Given the description of an element on the screen output the (x, y) to click on. 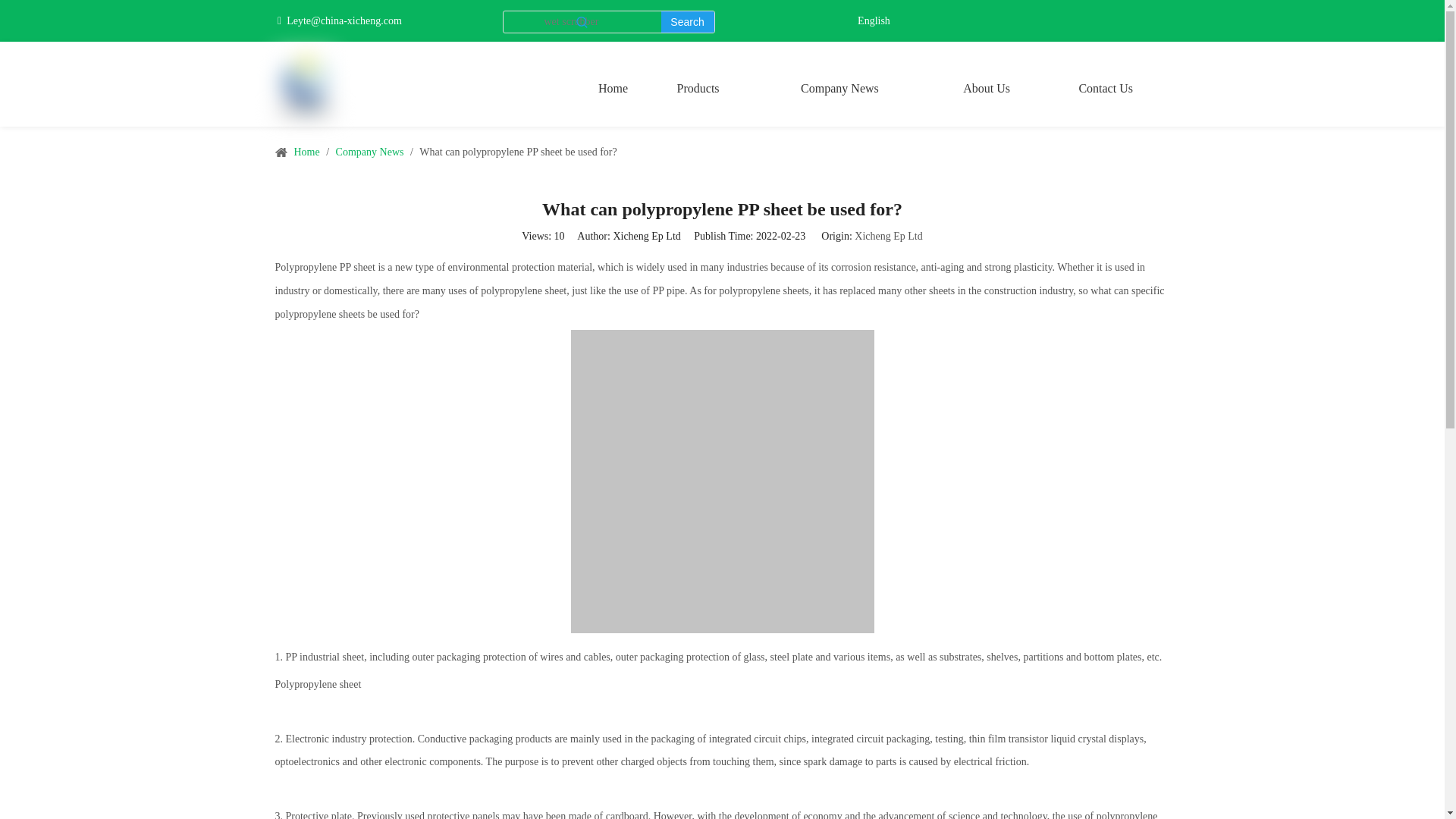
Contact Us (1106, 88)
Home (612, 88)
English (873, 21)
Products (697, 88)
Company News (839, 88)
Search (687, 21)
About Us (986, 88)
